Given the description of an element on the screen output the (x, y) to click on. 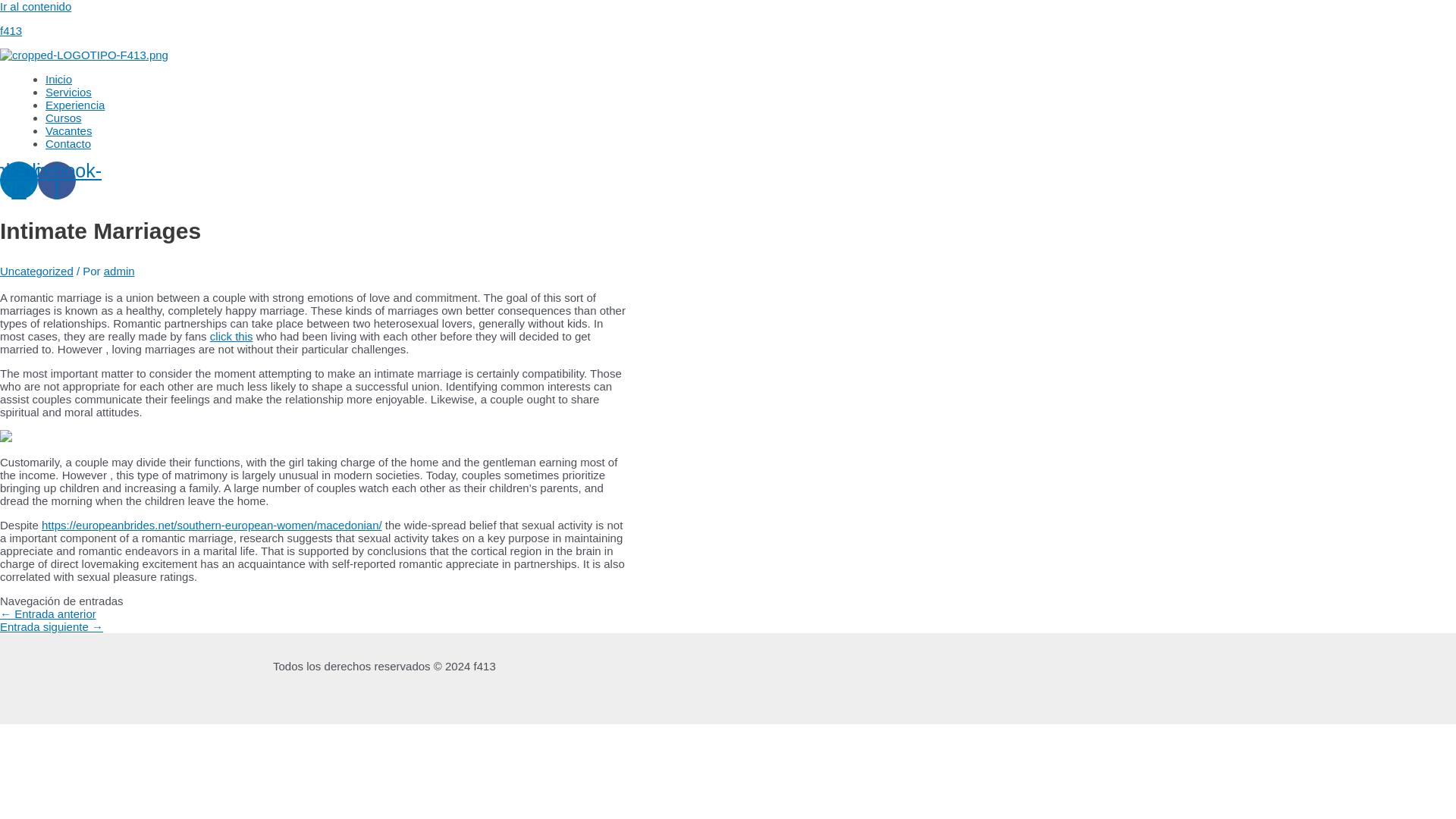
admin (119, 270)
Ir al contenido (35, 6)
Inicio (58, 78)
Contacto (67, 143)
click this (231, 336)
Ver todas las entradas de admin (119, 270)
Servicios (68, 91)
f413 (10, 30)
Linkedin-in (18, 180)
Facebook-f (56, 180)
Ir al contenido (35, 6)
Uncategorized (37, 270)
Cursos (63, 117)
Vacantes (68, 130)
Experiencia (74, 104)
